Given the description of an element on the screen output the (x, y) to click on. 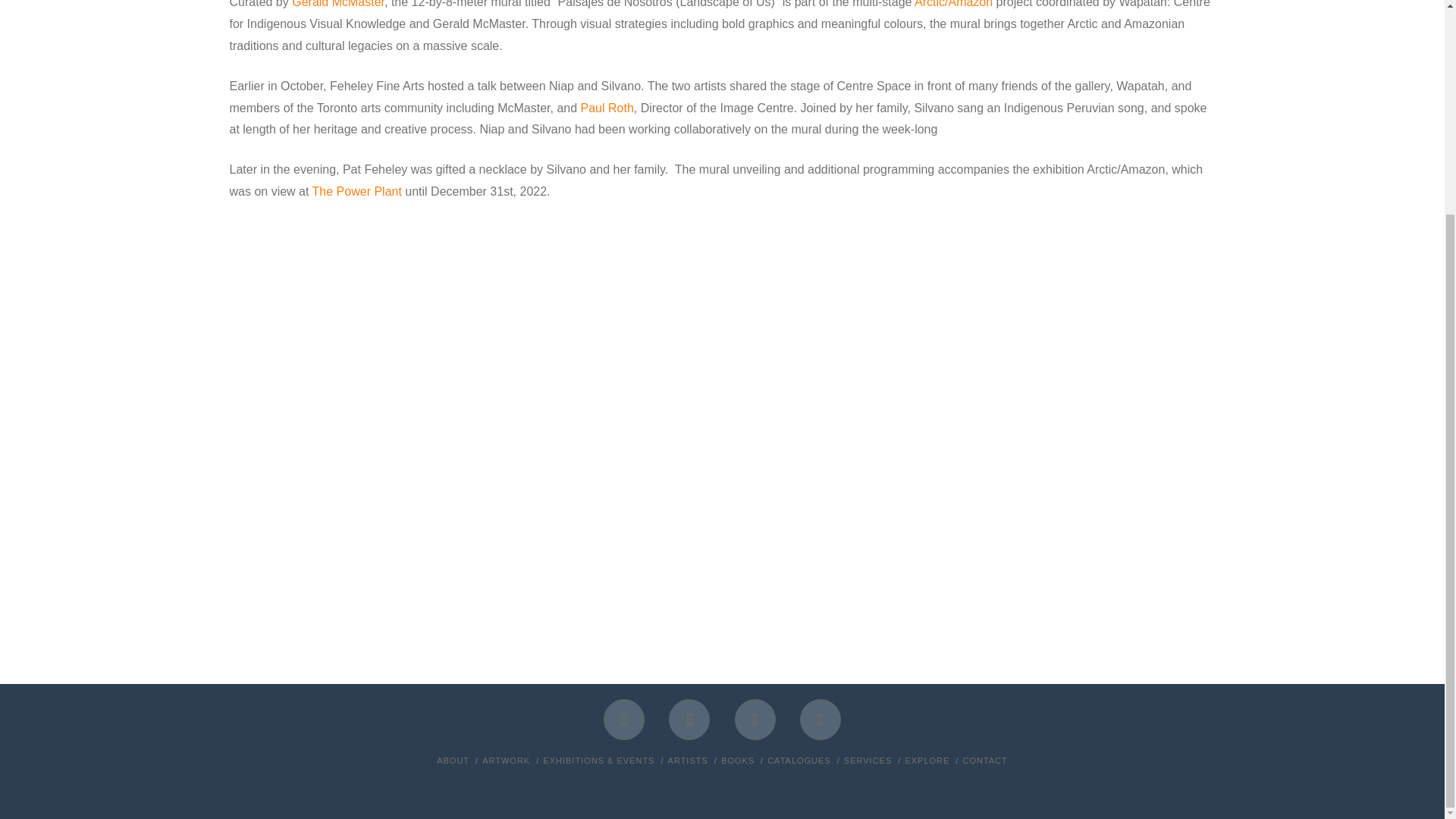
Instagram (820, 719)
Facebook (624, 719)
Gerald McMaster (338, 4)
Twitter (689, 719)
YouTube (755, 719)
Paul Roth (606, 107)
The Power Plant (357, 191)
